Given the description of an element on the screen output the (x, y) to click on. 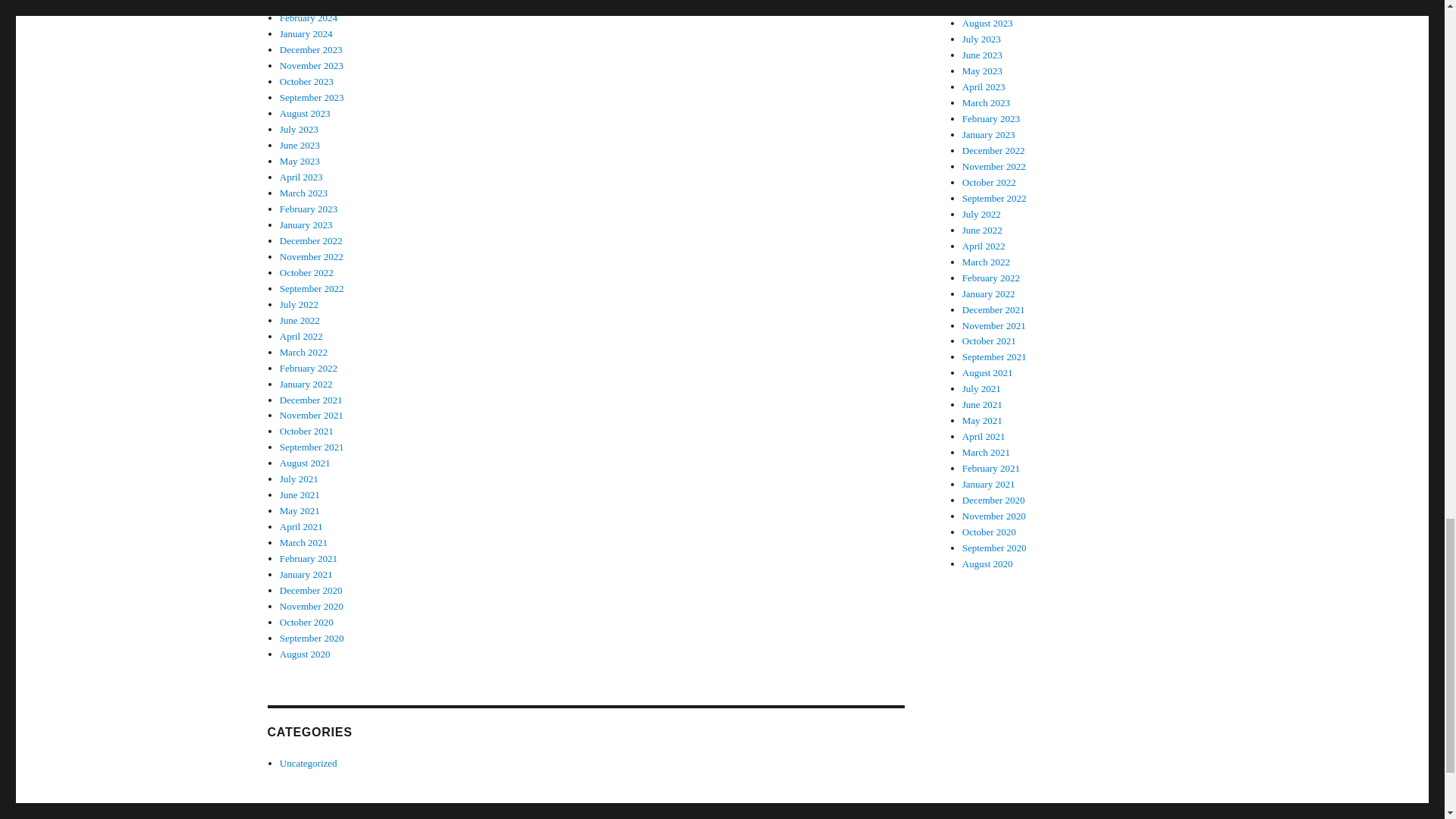
November 2023 (311, 65)
September 2023 (311, 97)
November 2022 (311, 256)
December 2022 (310, 240)
March 2024 (303, 3)
October 2022 (306, 272)
April 2023 (301, 176)
September 2022 (311, 288)
January 2022 (306, 383)
March 2022 (303, 351)
January 2024 (306, 33)
February 2023 (308, 208)
October 2023 (306, 81)
June 2022 (299, 319)
May 2023 (299, 161)
